Given the description of an element on the screen output the (x, y) to click on. 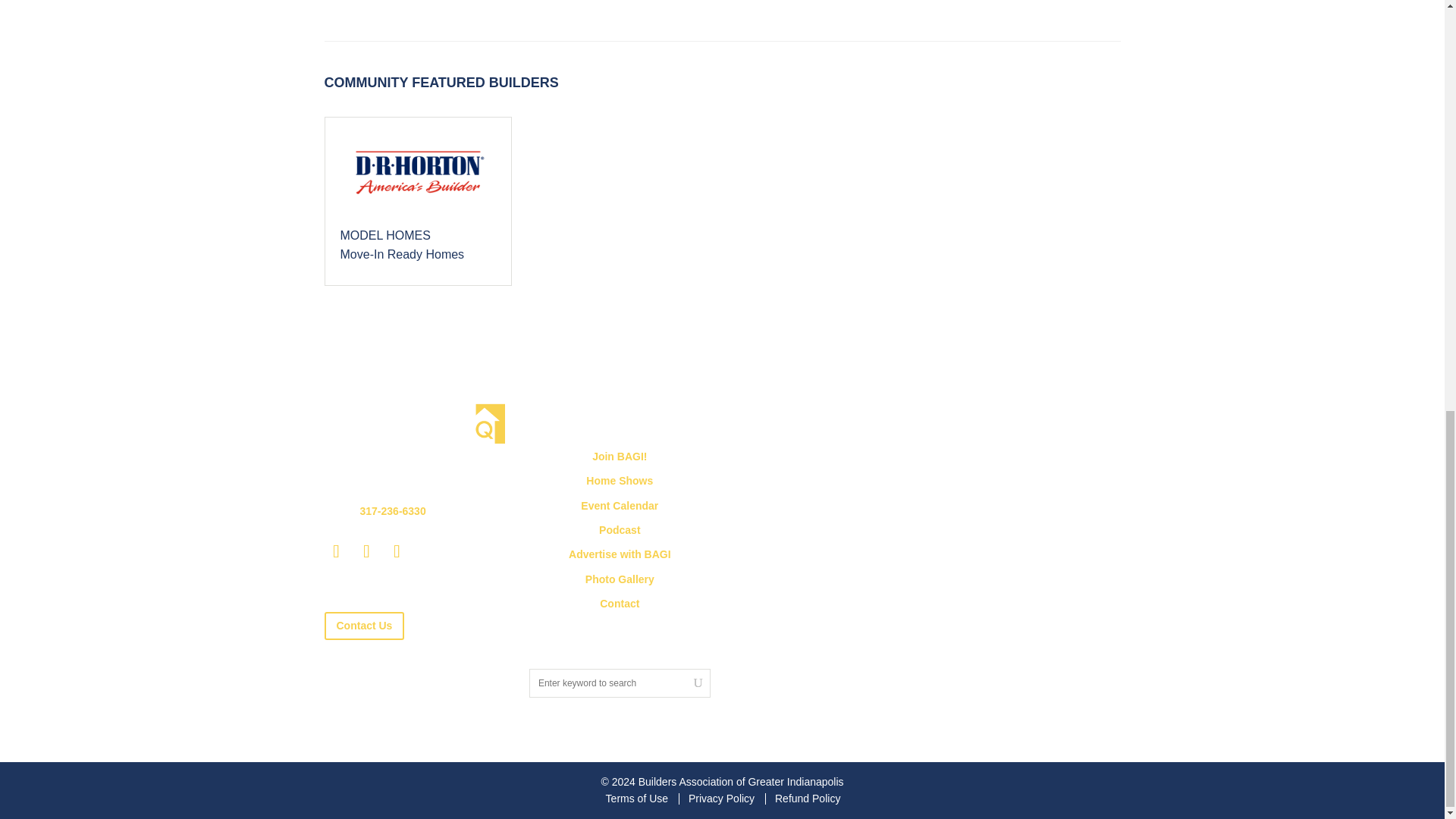
Cottages at Trailside (417, 200)
BAGI-White-Logo (414, 424)
Follow on Instagram (397, 550)
Follow on Facebook (366, 550)
Follow on LinkedIn (336, 550)
Search for: (619, 683)
